Given the description of an element on the screen output the (x, y) to click on. 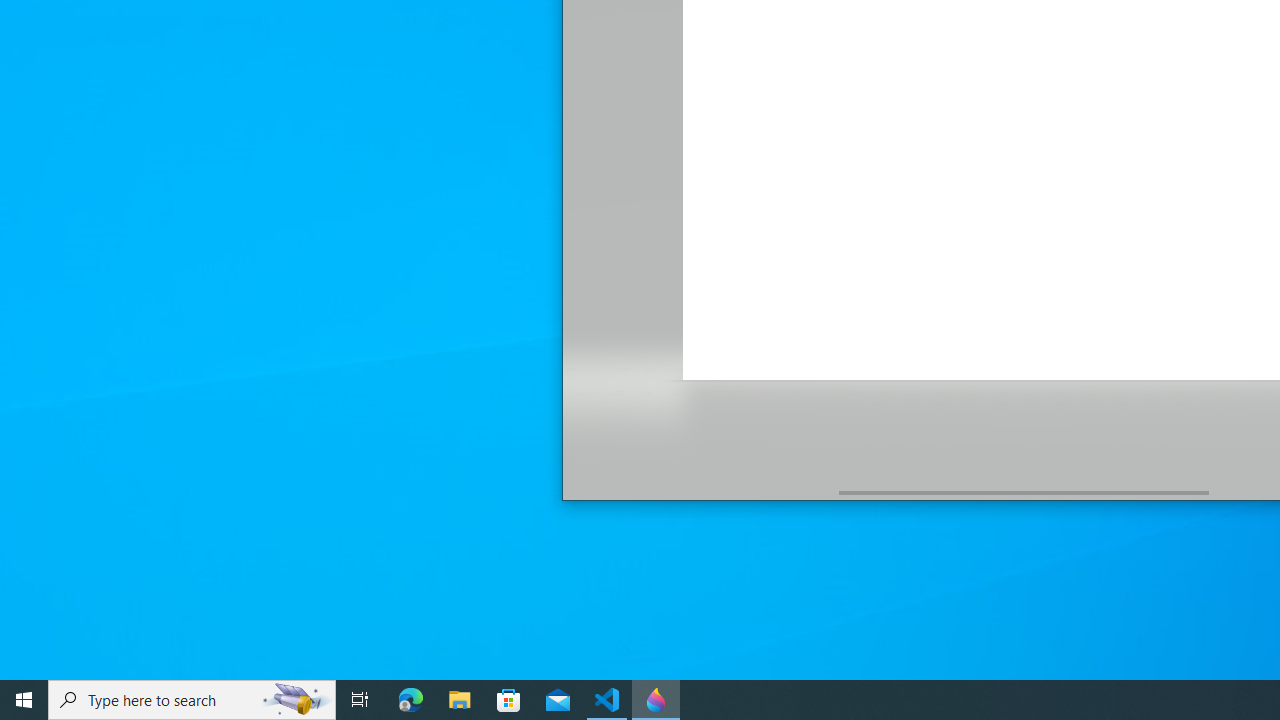
Paint 3D - 1 running window (656, 699)
Horizontal Large Decrease (700, 492)
